Given the description of an element on the screen output the (x, y) to click on. 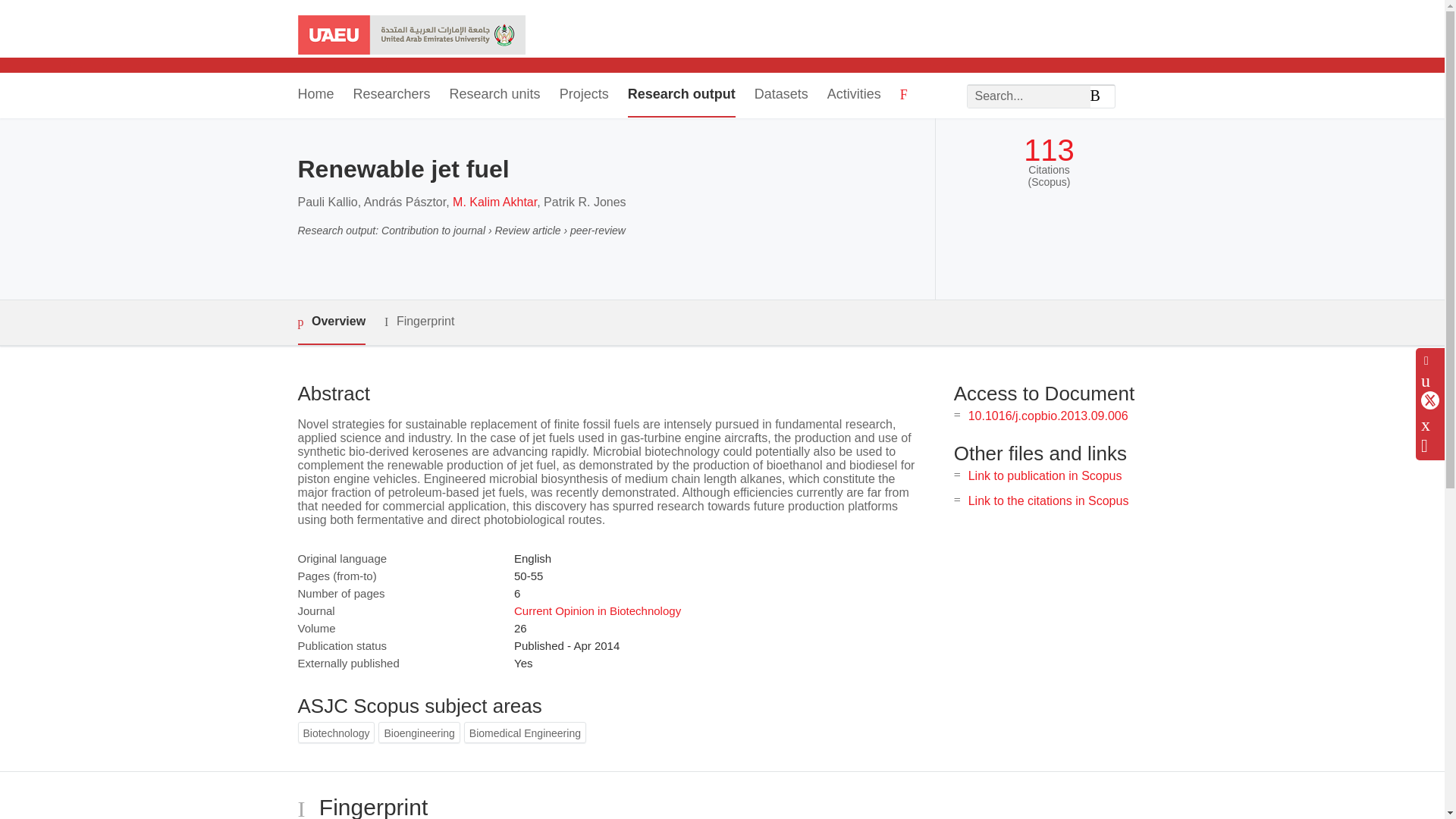
Link to the citations in Scopus (1048, 500)
Activities (853, 94)
Datasets (781, 94)
Researchers (391, 94)
113 (1048, 150)
Current Opinion in Biotechnology (597, 610)
Research output (681, 94)
Projects (583, 94)
M. Kalim Akhtar (494, 201)
Link to publication in Scopus (1045, 475)
Overview (331, 322)
Research units (494, 94)
United Arab Emirates University Home (410, 36)
Fingerprint (419, 321)
